Given the description of an element on the screen output the (x, y) to click on. 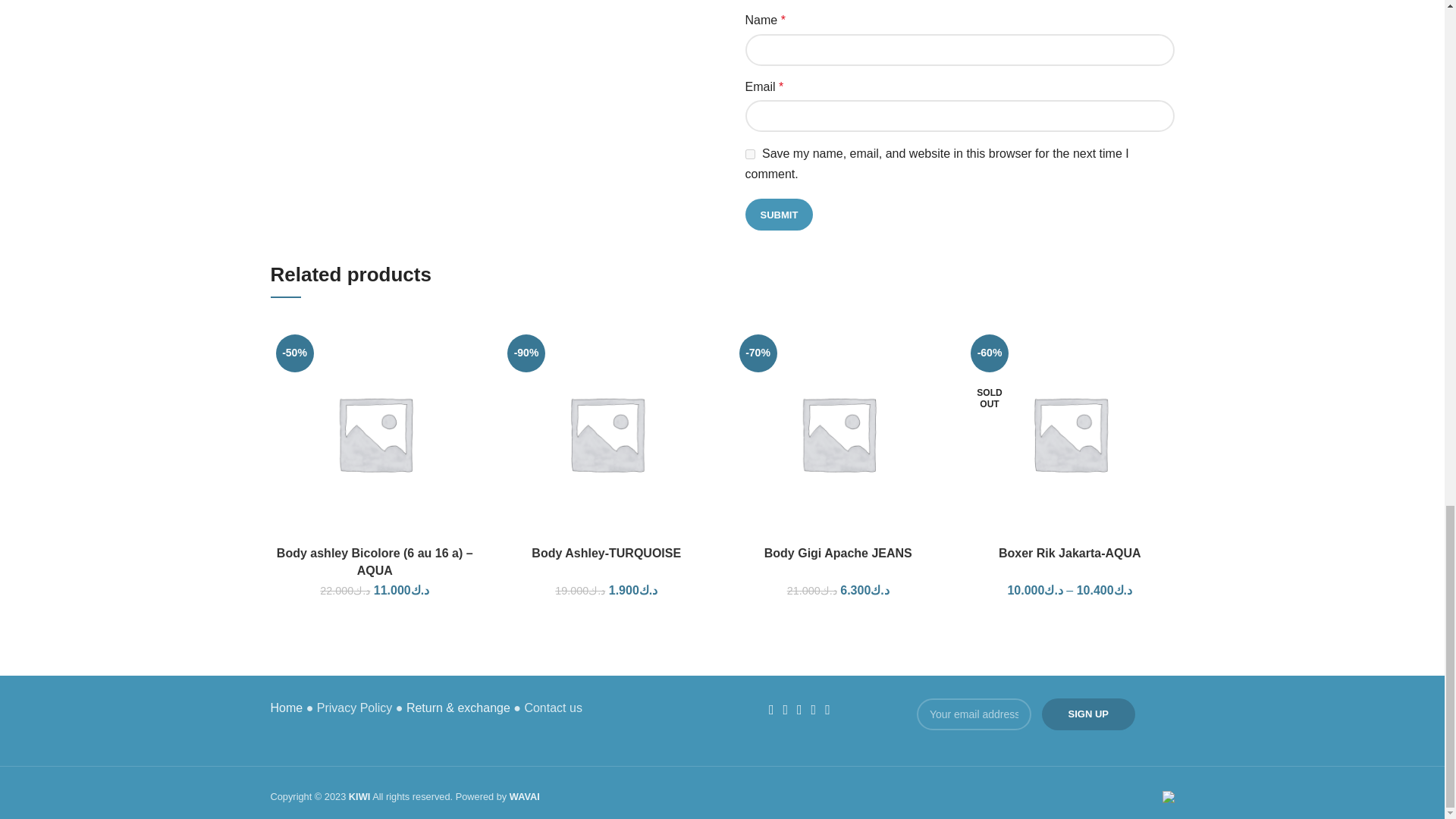
Submit (778, 214)
yes (749, 153)
Sign up (1088, 714)
